Given the description of an element on the screen output the (x, y) to click on. 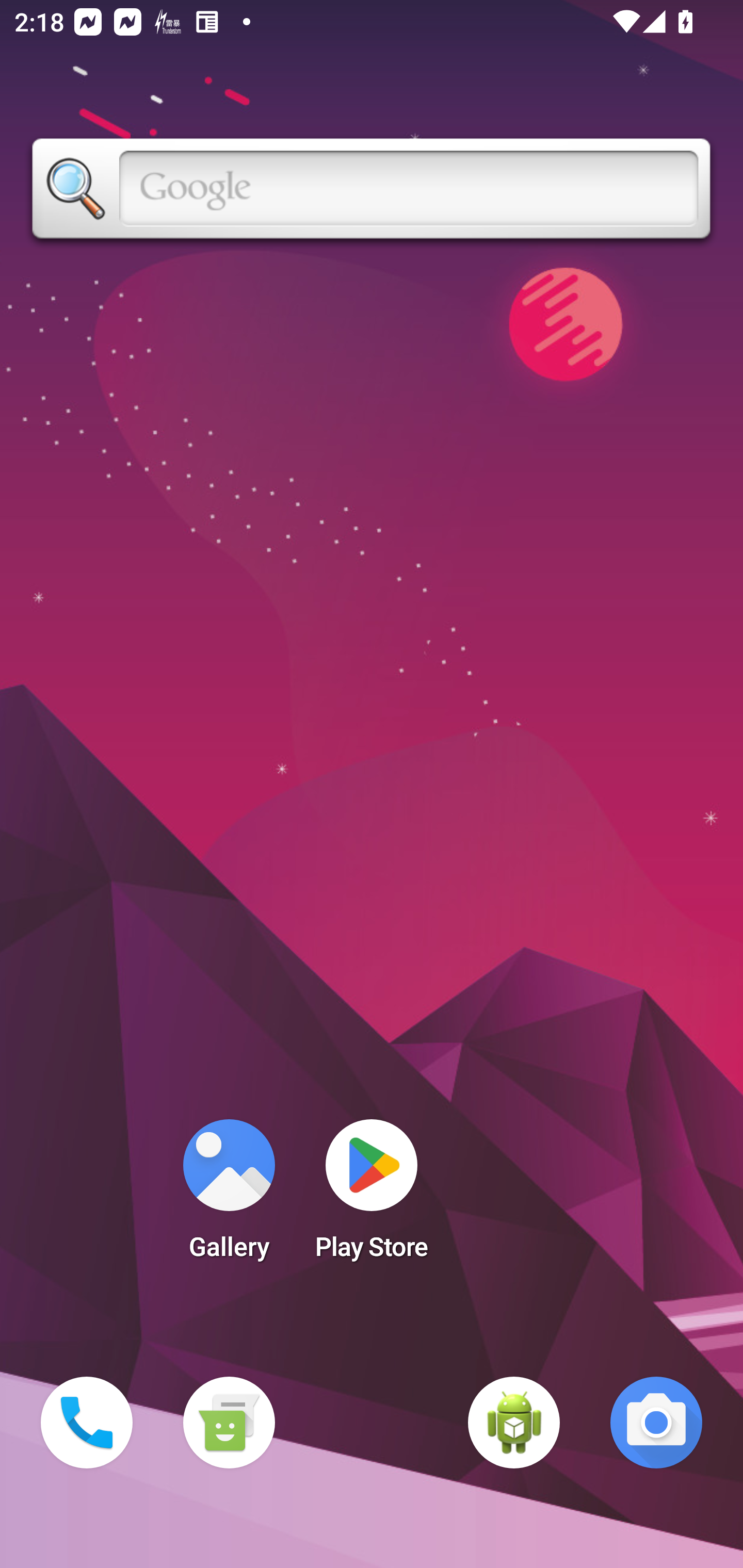
Gallery (228, 1195)
Play Store (371, 1195)
Phone (86, 1422)
Messaging (228, 1422)
WebView Browser Tester (513, 1422)
Camera (656, 1422)
